Given the description of an element on the screen output the (x, y) to click on. 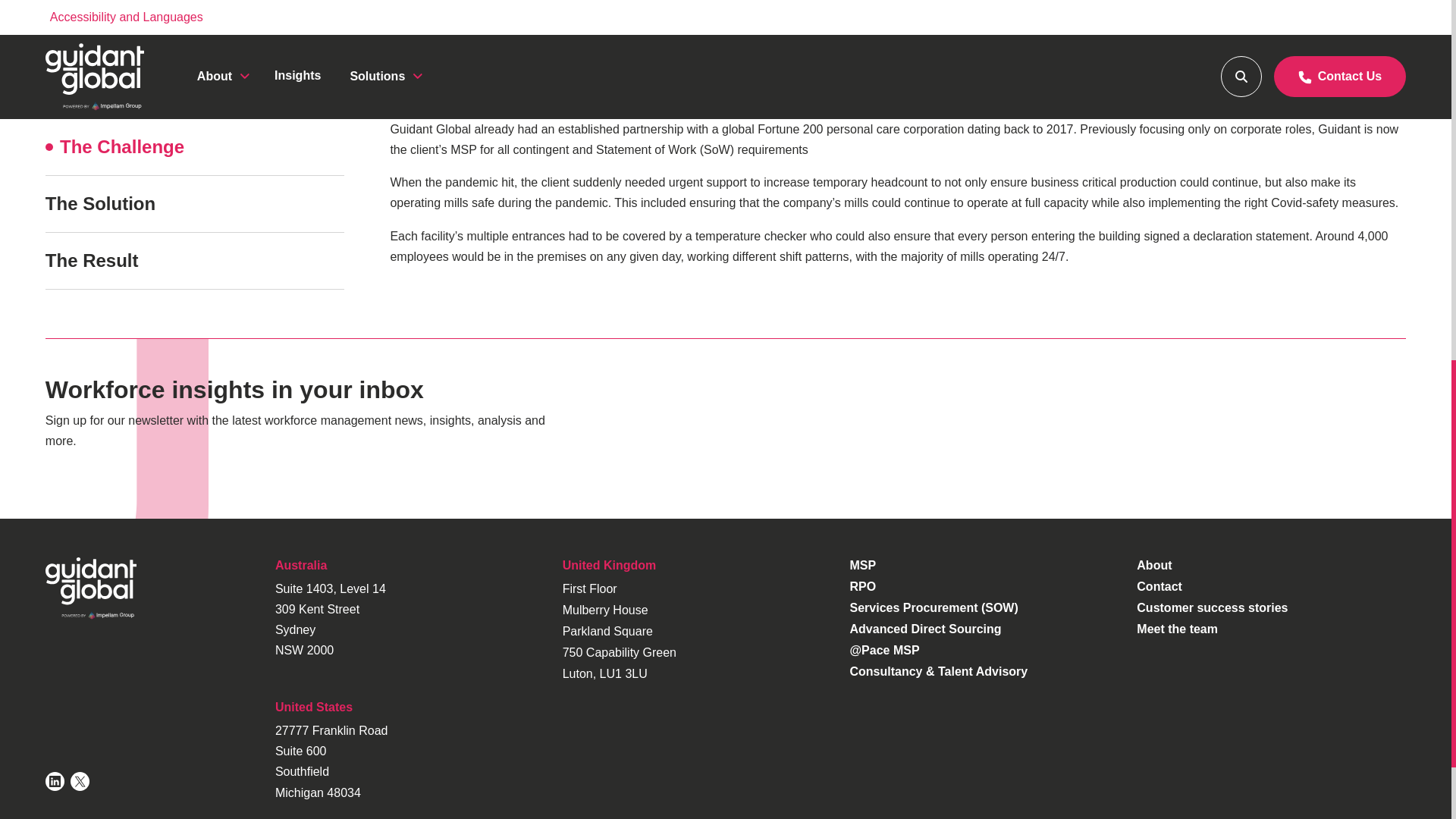
About (1154, 564)
Contact (1159, 585)
MSP (862, 564)
Meet the team (1177, 628)
RPO (862, 585)
Customer success stories (1212, 607)
Advanced Direct Sourcing (924, 628)
